Given the description of an element on the screen output the (x, y) to click on. 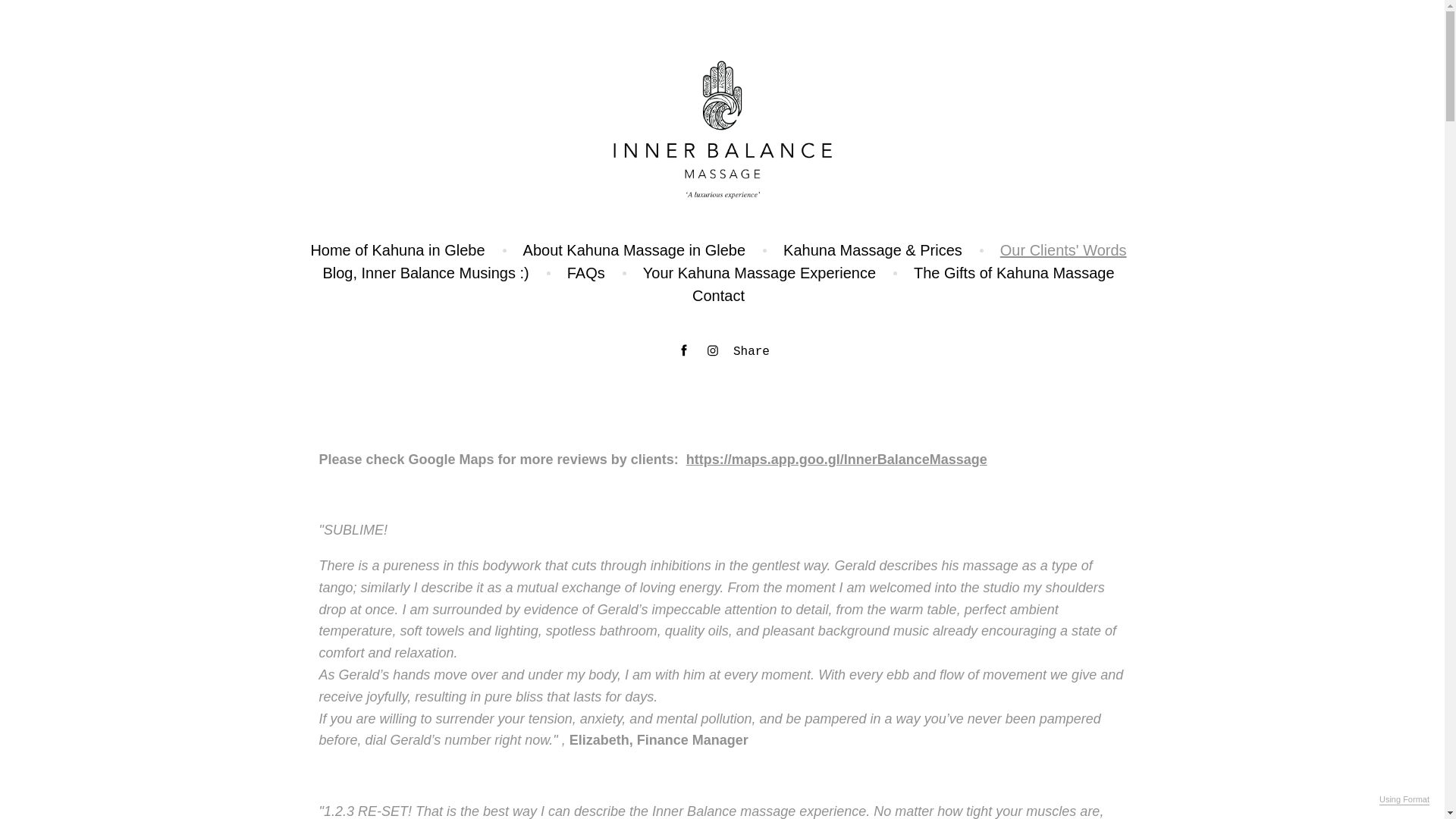
About Kahuna Massage in Glebe Element type: text (634, 249)
Using Format Element type: text (1404, 799)
Share Element type: text (751, 351)
Your Kahuna Massage Experience Element type: text (759, 272)
Kahuna Massage & Prices Element type: text (872, 249)
Home of Kahuna in Glebe Element type: text (397, 249)
The Gifts of Kahuna Massage Element type: text (1013, 272)
FAQs Element type: text (586, 272)
Our Clients' Words Element type: text (1063, 249)
https://maps.app.goo.gl/InnerBalanceMassage Element type: text (836, 459)
Blog, Inner Balance Musings :) Element type: text (425, 272)
Contact Element type: text (718, 295)
